Given the description of an element on the screen output the (x, y) to click on. 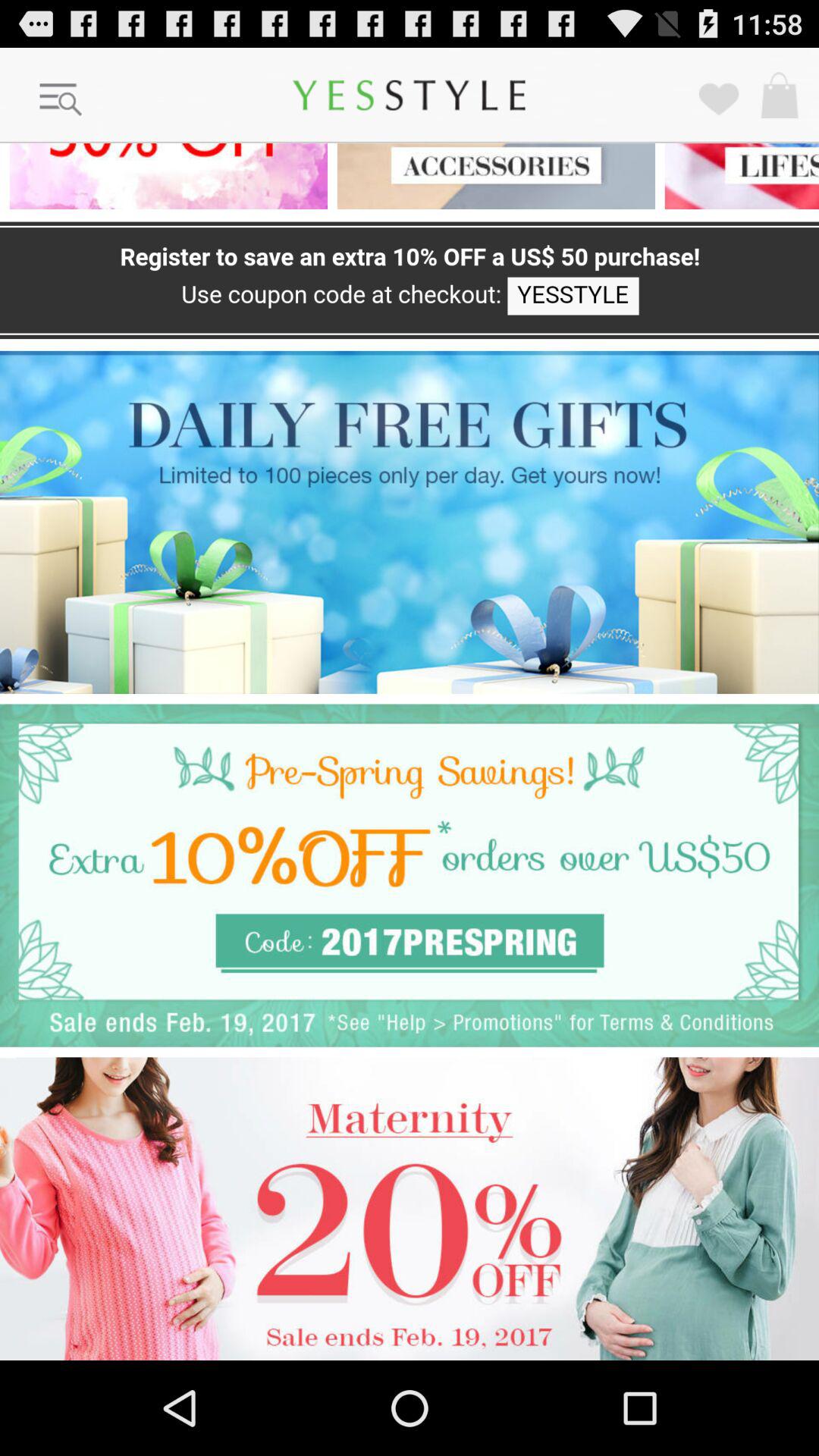
banner display (409, 1208)
